Given the description of an element on the screen output the (x, y) to click on. 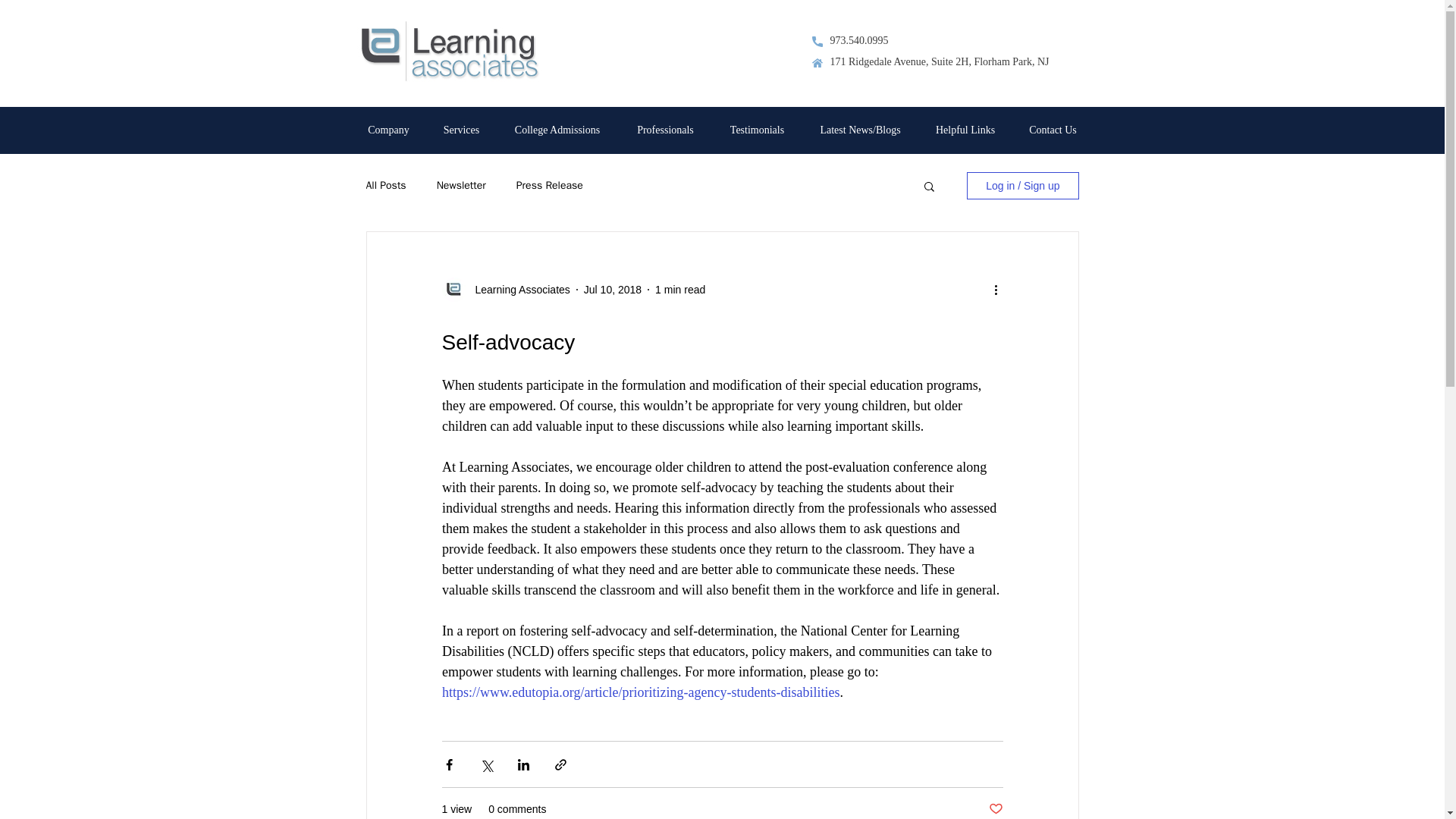
Professionals (665, 130)
Jul 10, 2018 (612, 289)
Services (461, 130)
Helpful Links (964, 130)
Company (388, 130)
Testimonials (757, 130)
1 min read (679, 289)
Press Release (549, 185)
Post not marked as liked (995, 809)
Learning Associates (517, 289)
